Given the description of an element on the screen output the (x, y) to click on. 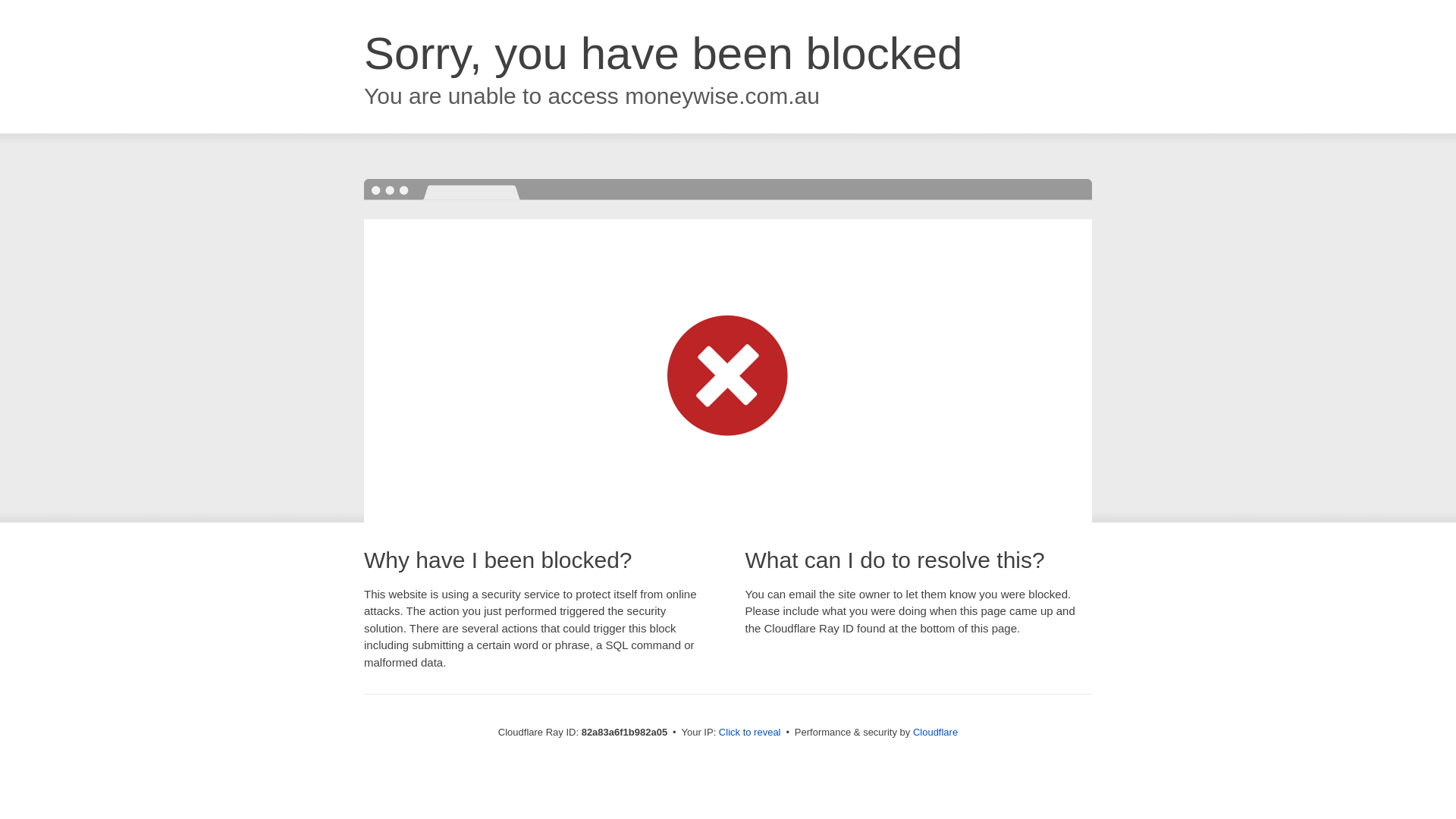
Click to reveal Element type: text (749, 732)
Cloudflare Element type: text (935, 731)
